Given the description of an element on the screen output the (x, y) to click on. 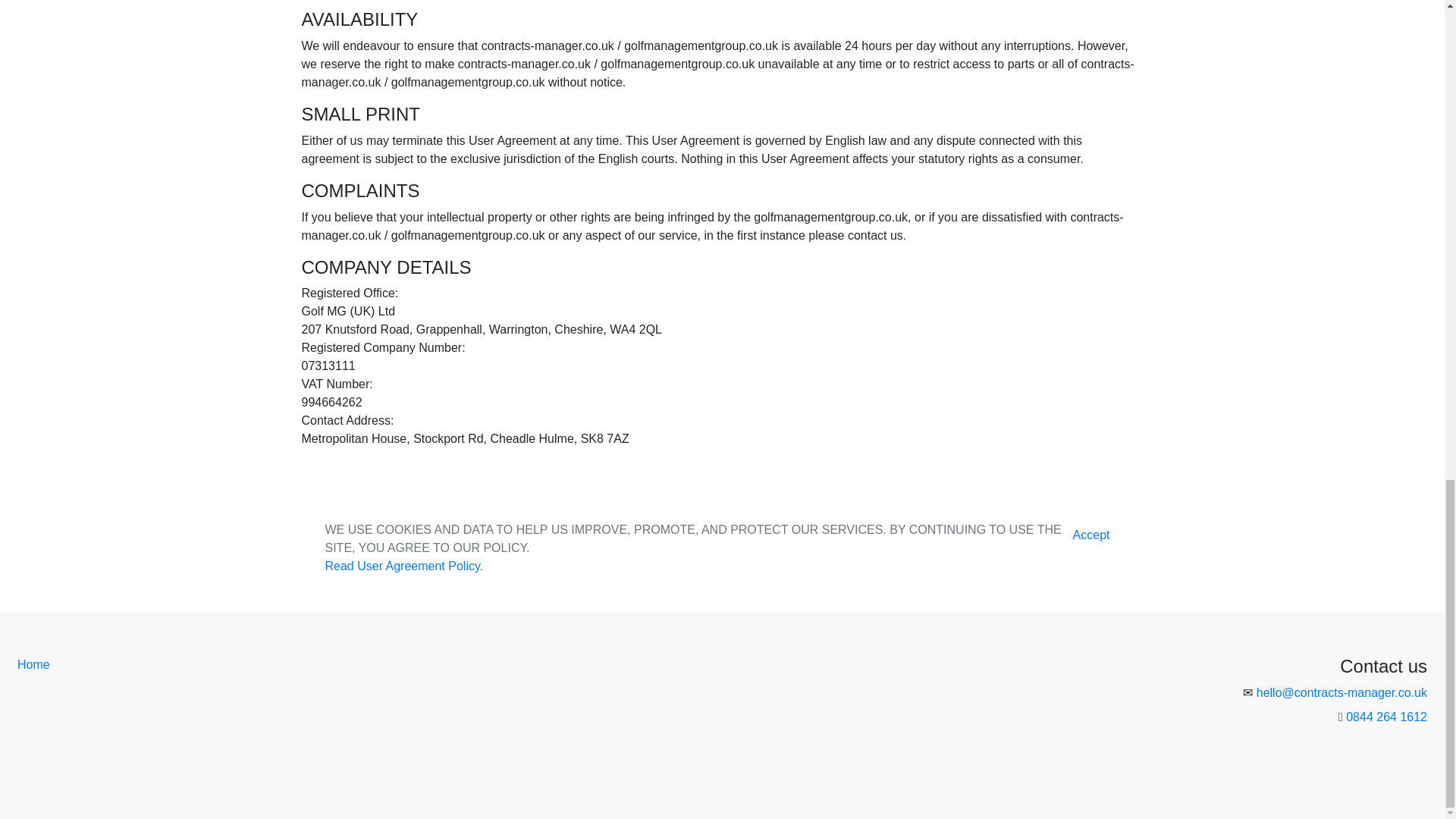
0844 264 1612 (1385, 716)
Home (33, 664)
Read User Agreement Policy (401, 565)
Accept (1090, 534)
